Given the description of an element on the screen output the (x, y) to click on. 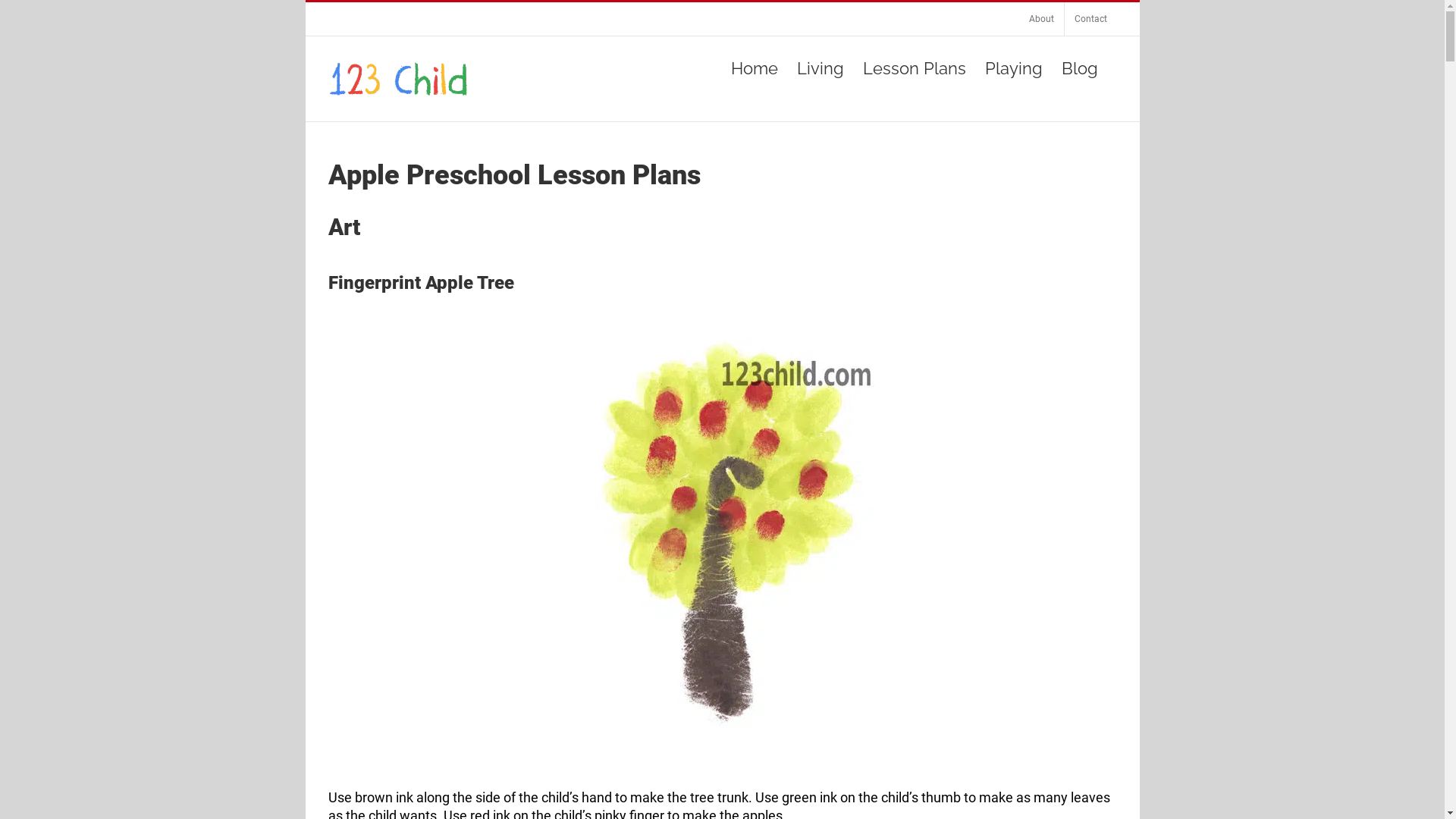
Blog Element type: text (1079, 68)
Home Element type: text (754, 68)
Lesson Plans Element type: text (914, 68)
About Element type: text (1041, 18)
Playing Element type: text (1012, 68)
Contact Element type: text (1090, 18)
Living Element type: text (819, 68)
